Given the description of an element on the screen output the (x, y) to click on. 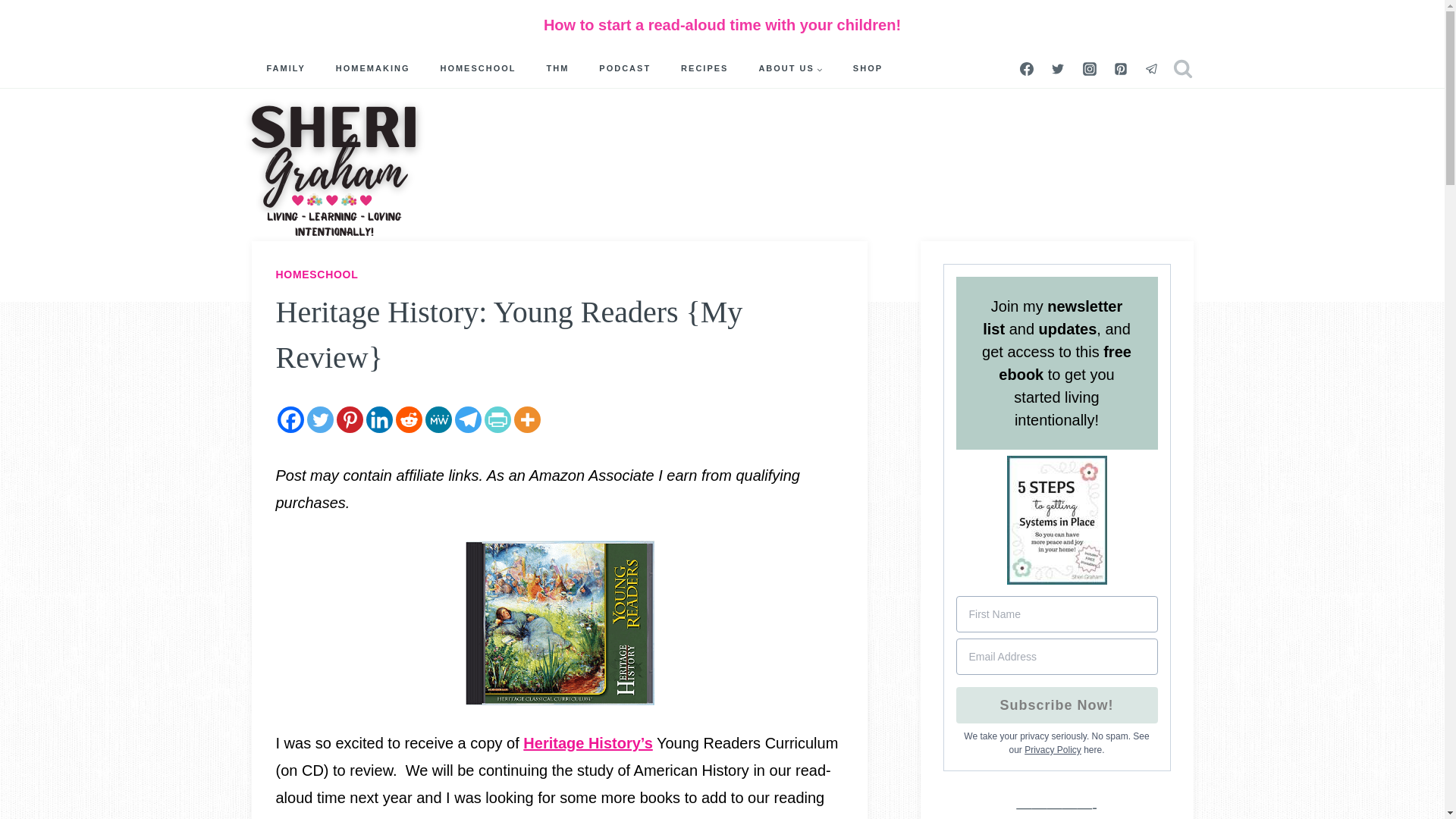
PODCAST (624, 68)
Facebook (291, 419)
PrintFriendly (497, 419)
SHOP (868, 68)
HOMESCHOOL (478, 68)
Telegram (467, 419)
HOMEMAKING (372, 68)
ABOUT US (789, 68)
HOMESCHOOL (317, 274)
Reddit (409, 419)
Twitter (319, 419)
THM (557, 68)
RECIPES (703, 68)
Pinterest (349, 419)
More (526, 419)
